Given the description of an element on the screen output the (x, y) to click on. 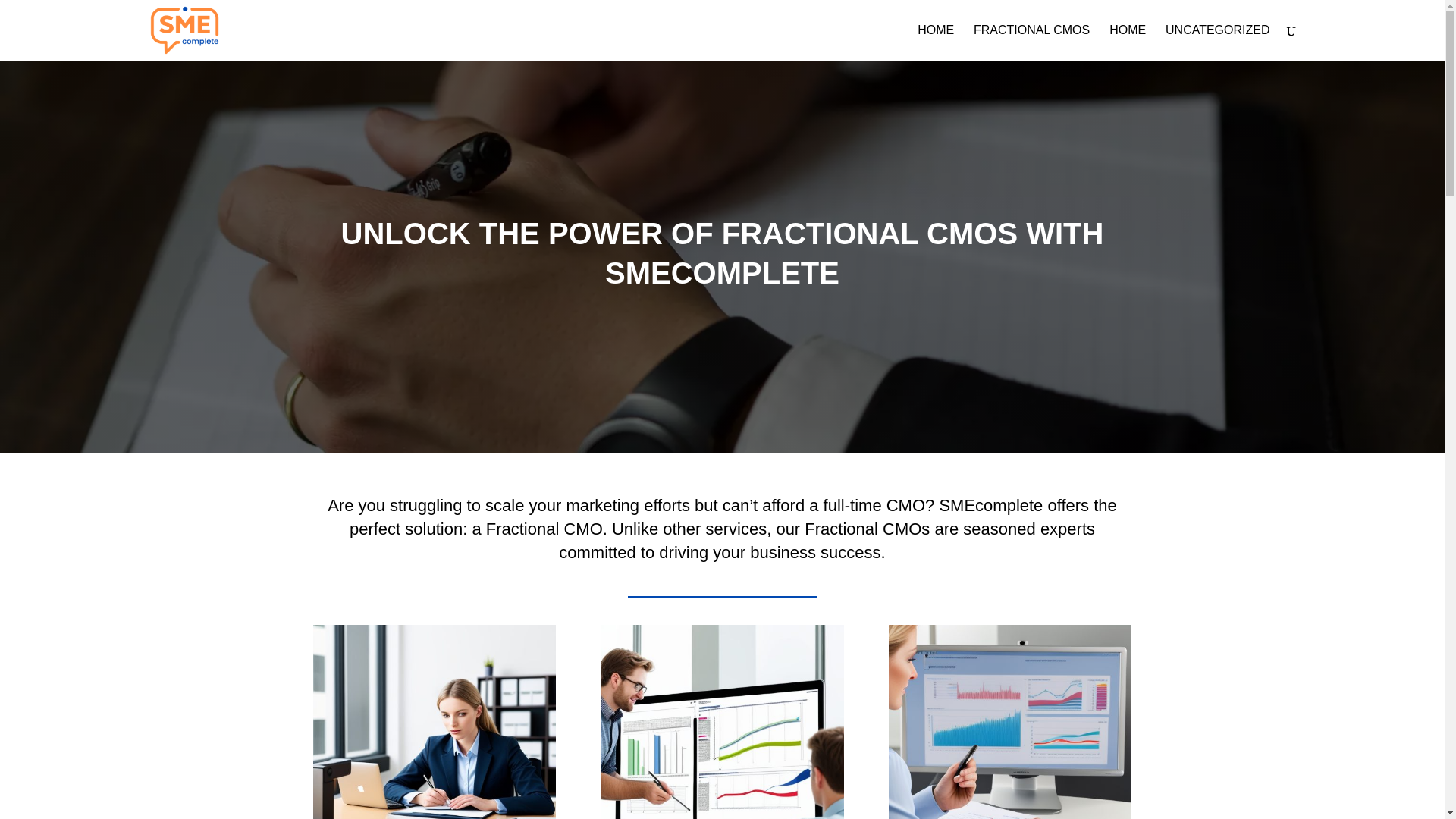
HOME (935, 42)
UNCATEGORIZED (1217, 42)
HOME (1127, 42)
FRACTIONAL CMOS (1031, 42)
